Given the description of an element on the screen output the (x, y) to click on. 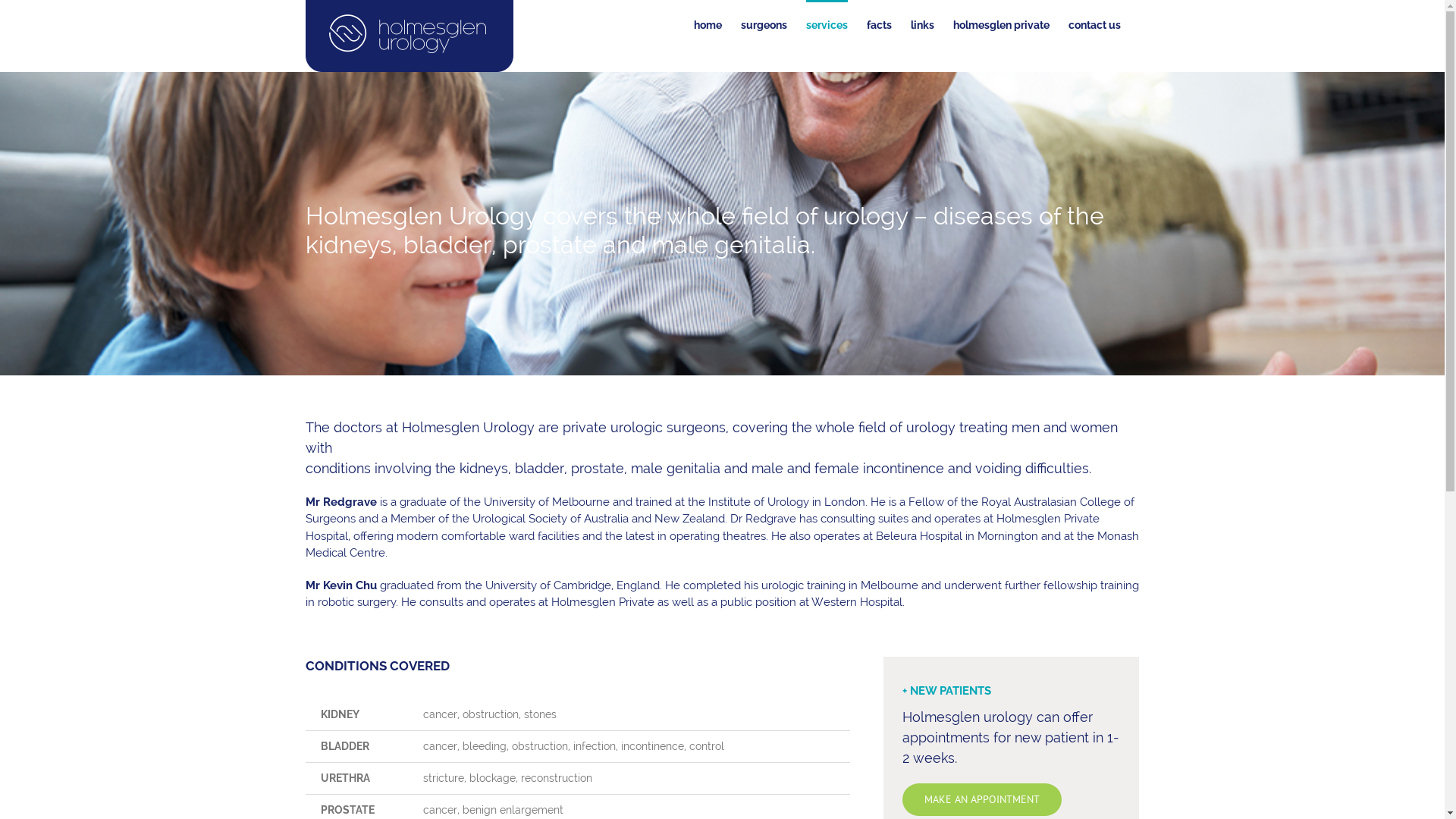
facts Element type: text (878, 23)
MAKE AN APPOINTMENT Element type: text (981, 799)
home Element type: text (707, 23)
contact us Element type: text (1093, 23)
holmesglen private Element type: text (1000, 23)
links Element type: text (921, 23)
services Element type: text (826, 23)
surgeons Element type: text (763, 23)
